Given the description of an element on the screen output the (x, y) to click on. 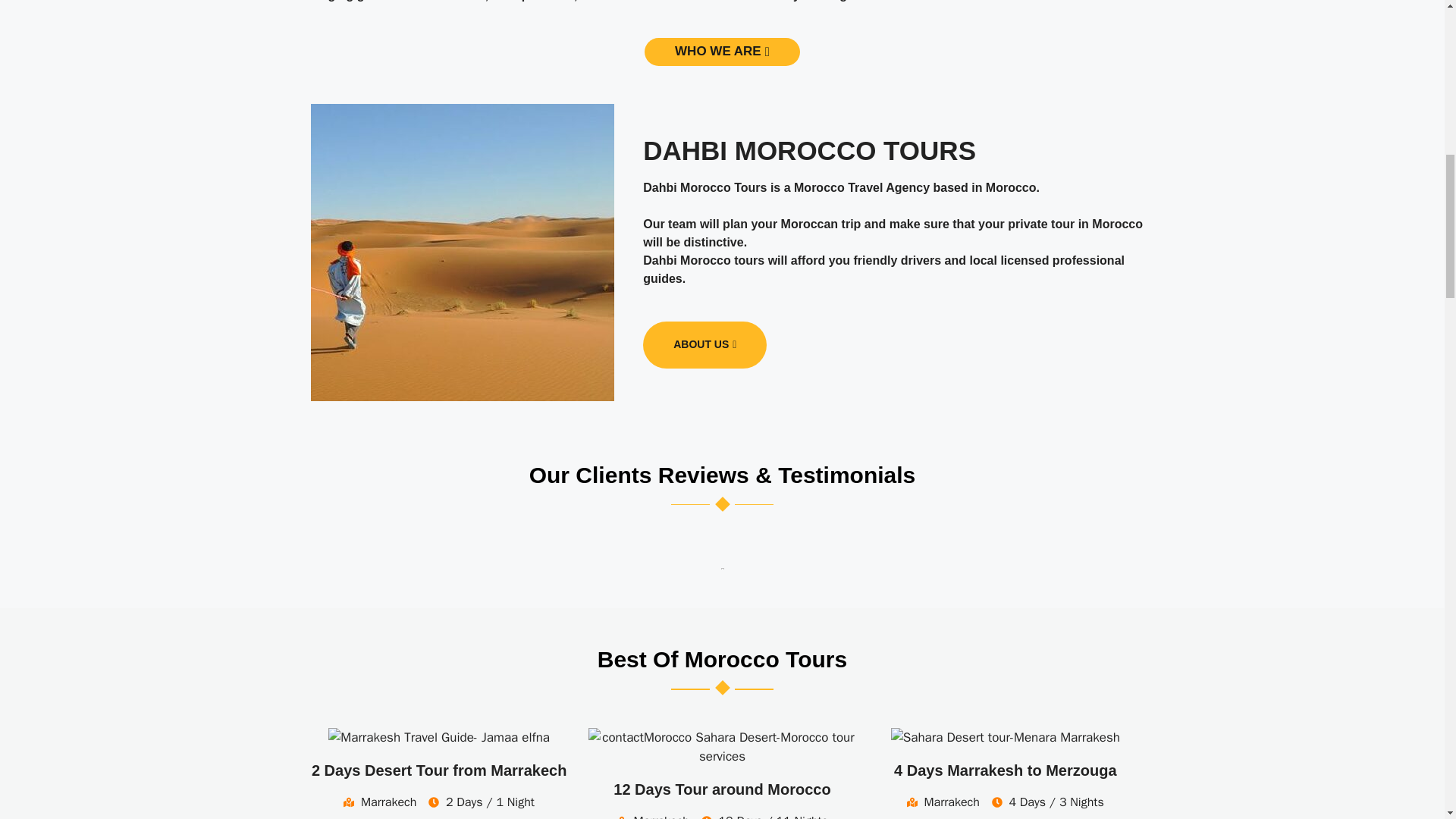
Morocco Sahara Desert (722, 747)
menara marrakesh (1005, 737)
Jamaa elfna (439, 737)
